Given the description of an element on the screen output the (x, y) to click on. 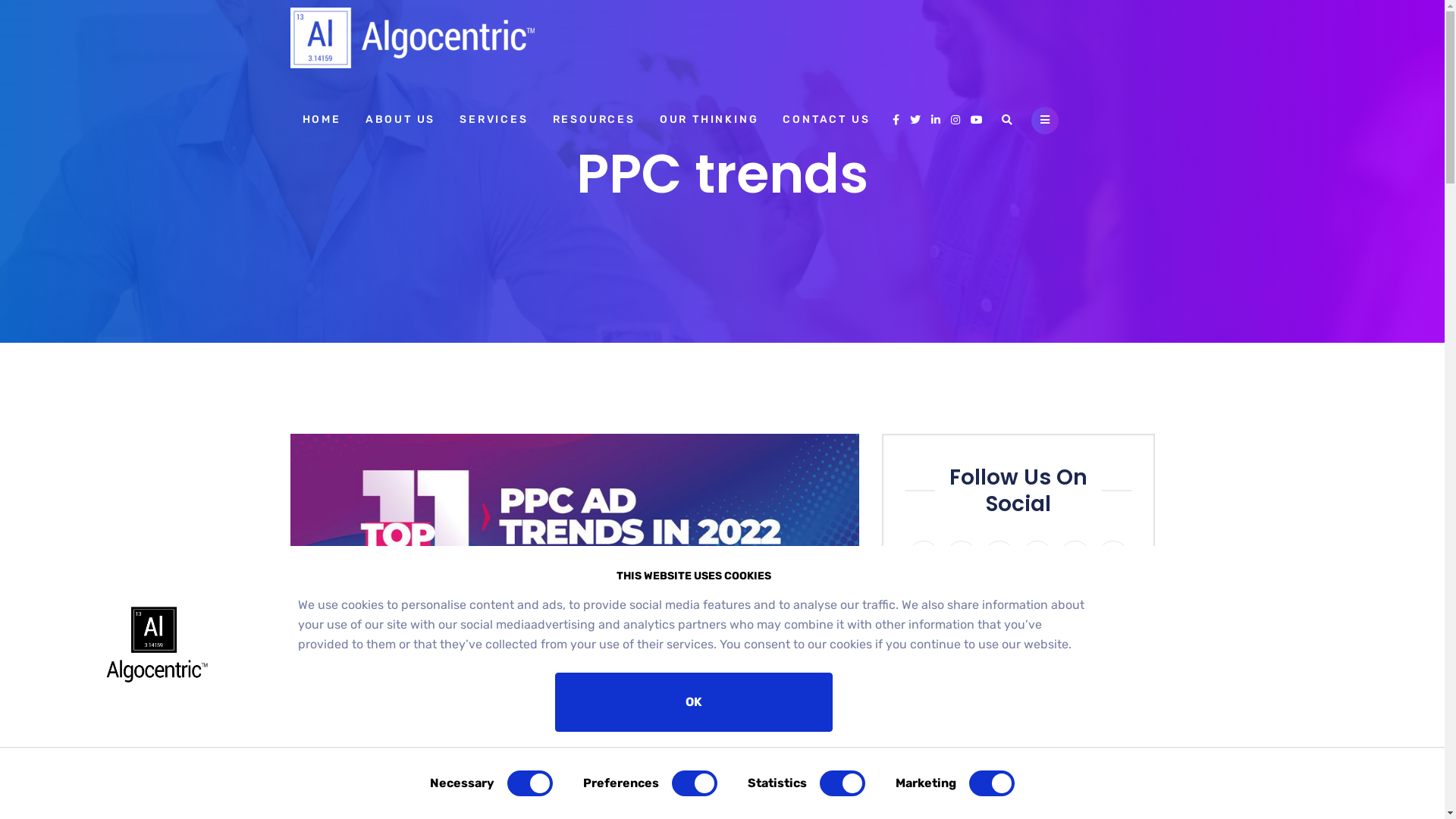
ABOUT US Element type: text (400, 119)
NO COMMENTS Element type: text (531, 751)
CONTACT US Element type: text (825, 119)
HOME Element type: text (320, 119)
SEM Element type: text (600, 751)
SERVICES Element type: text (493, 119)
OUR THINKING Element type: text (709, 119)
Top 11 PPC Ad Trends in 2022 Element type: text (472, 787)
OK Element type: text (693, 701)
ALGOCENTRIC CMO Element type: text (418, 751)
RESOURCES Element type: text (593, 119)
